Given the description of an element on the screen output the (x, y) to click on. 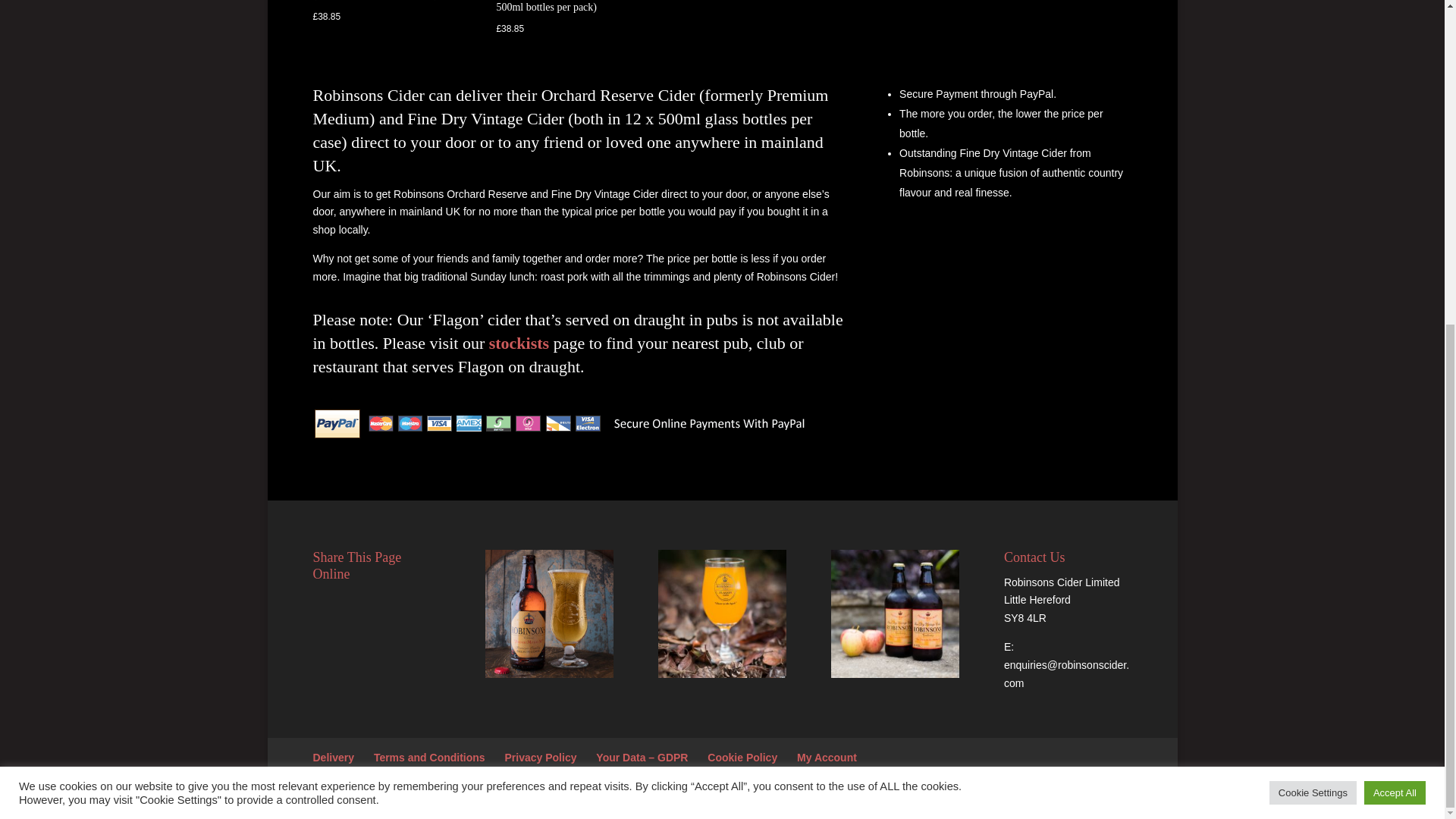
Robinsons Fine Dry Cider (722, 613)
Cookie Policy (742, 757)
Robinsons Fine Dry Cider (894, 613)
Delivery (333, 757)
Cookie Settings (1312, 261)
Accept All (1394, 261)
Privacy Policy (540, 757)
Terms and Conditions (429, 757)
Robinsons PremiuMediuM Cider (548, 613)
stockists (518, 342)
My Account (826, 757)
